Given the description of an element on the screen output the (x, y) to click on. 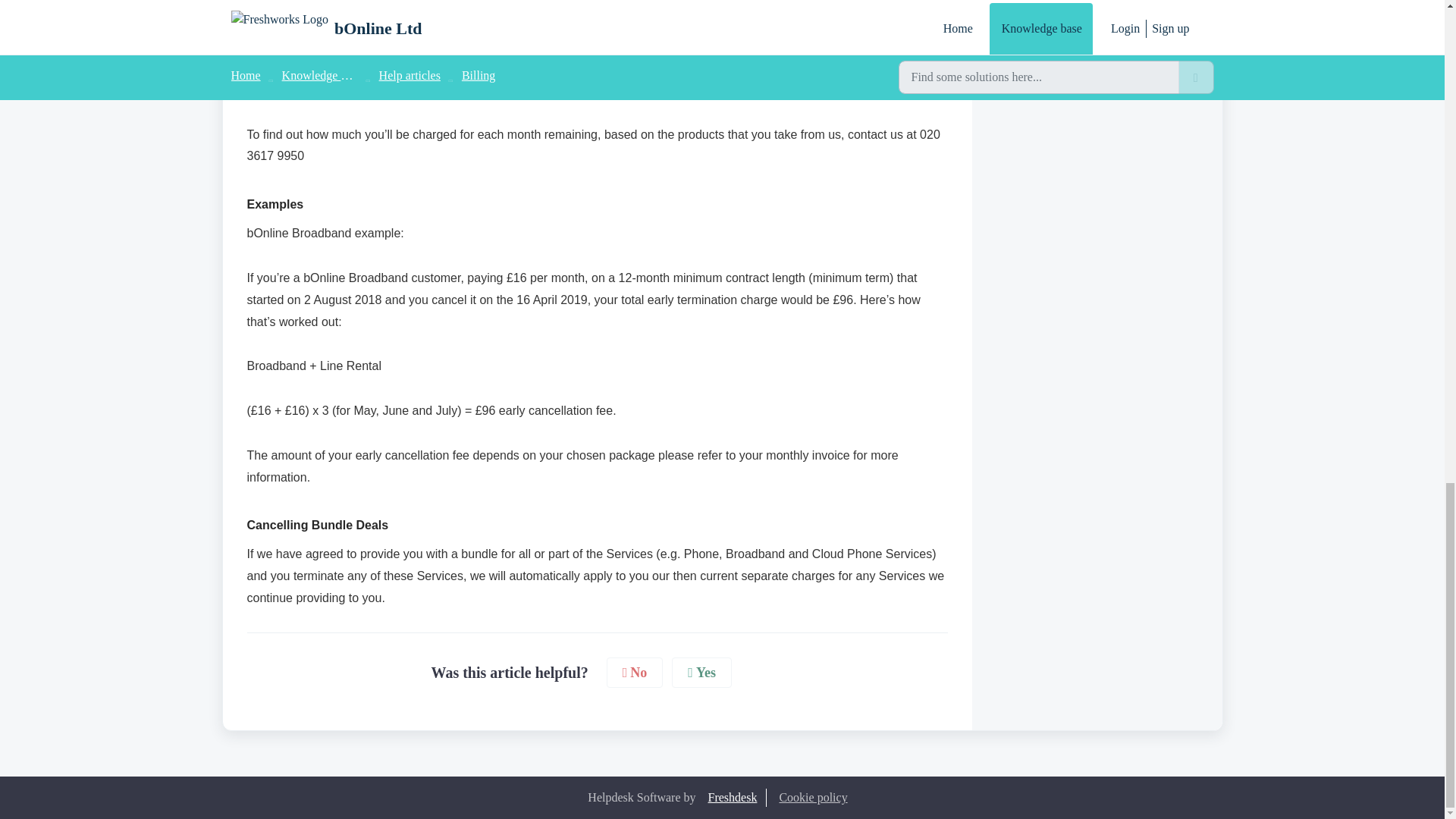
Cookie policy (813, 797)
Freshdesk (732, 797)
No (635, 672)
Yes (701, 672)
